Given the description of an element on the screen output the (x, y) to click on. 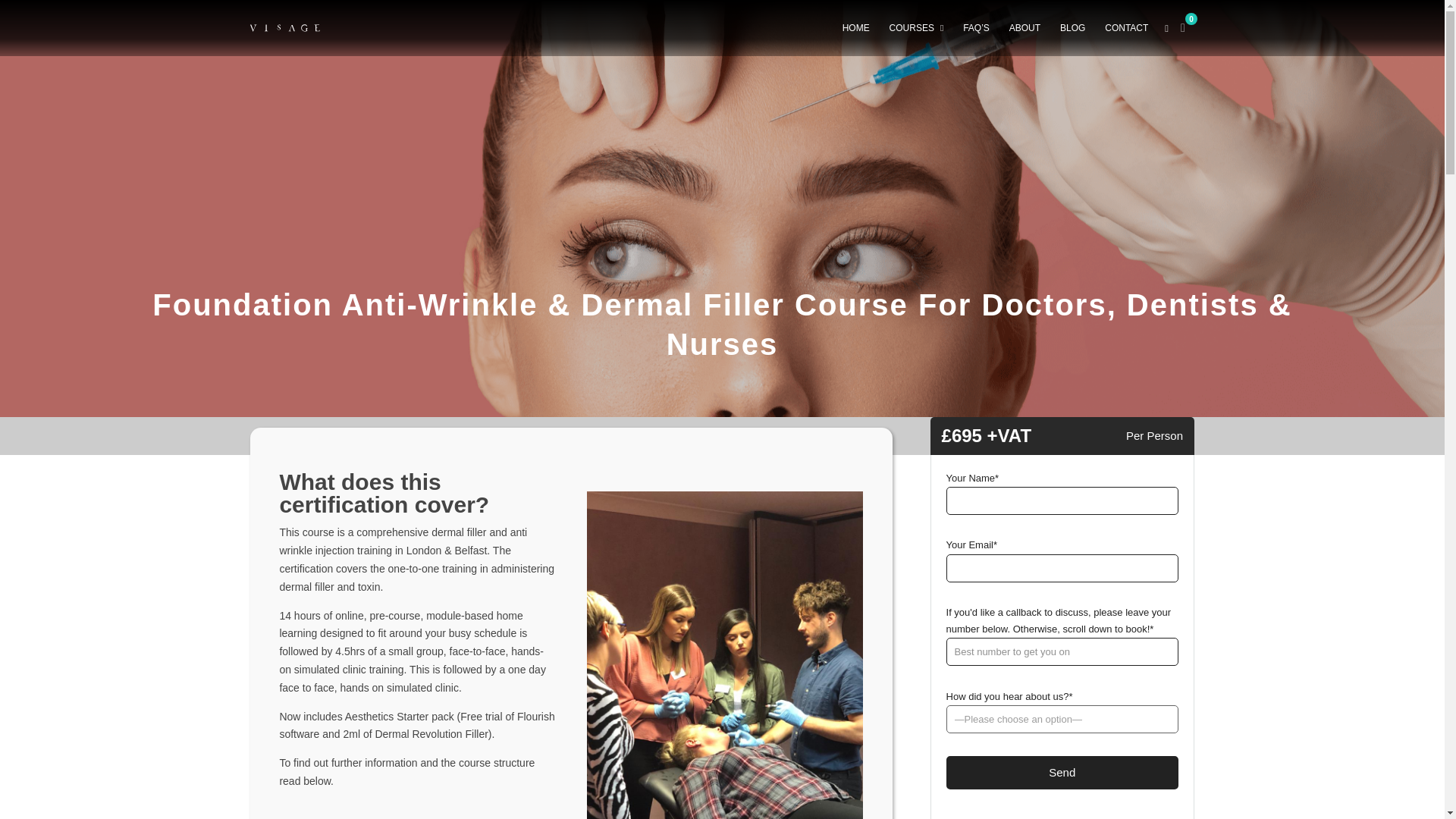
Send (1061, 772)
View Cart (1182, 26)
COURSES (922, 27)
